Given the description of an element on the screen output the (x, y) to click on. 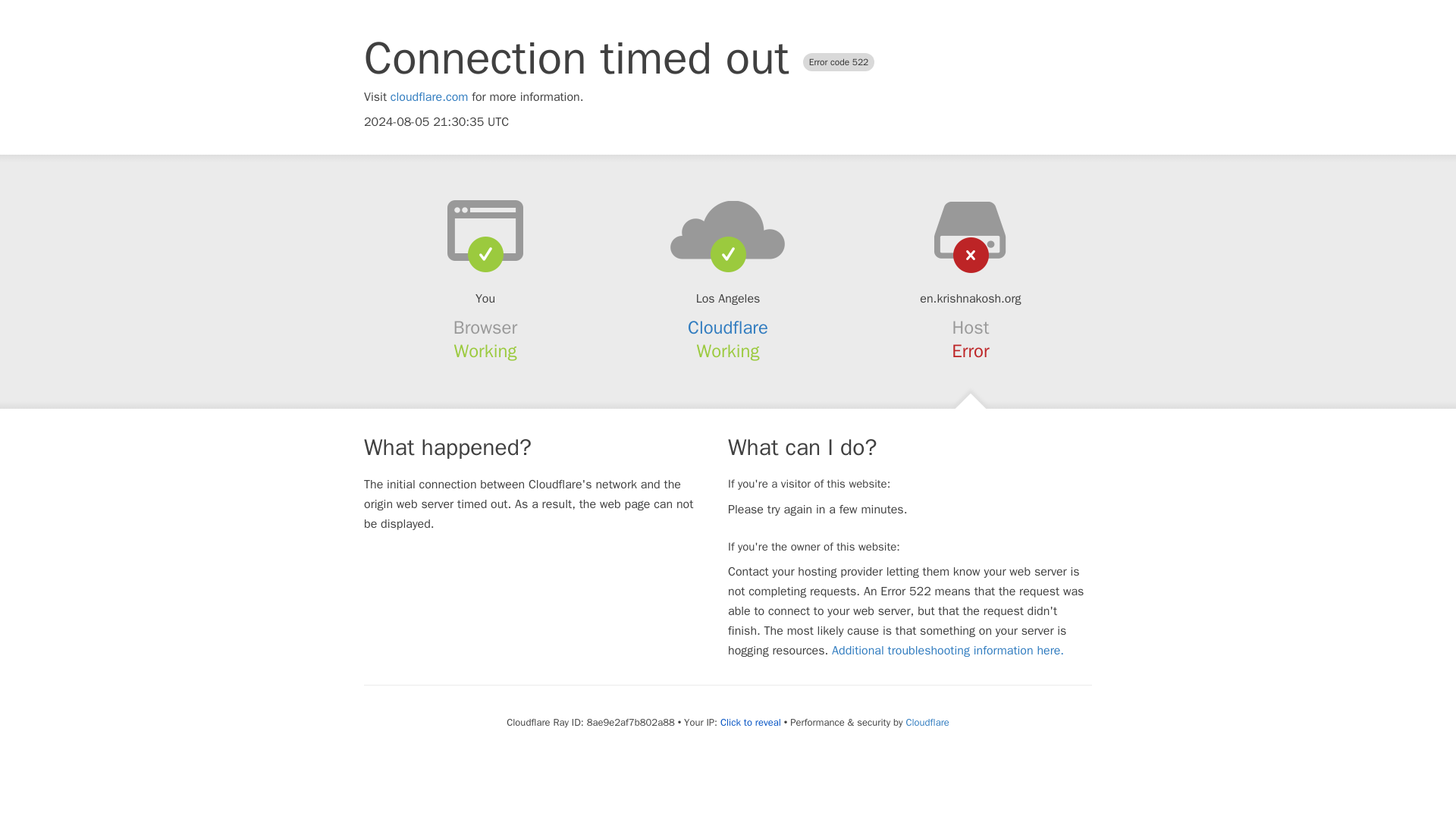
Cloudflare (727, 327)
Additional troubleshooting information here. (947, 650)
Click to reveal (750, 722)
cloudflare.com (429, 96)
Cloudflare (927, 721)
